Given the description of an element on the screen output the (x, y) to click on. 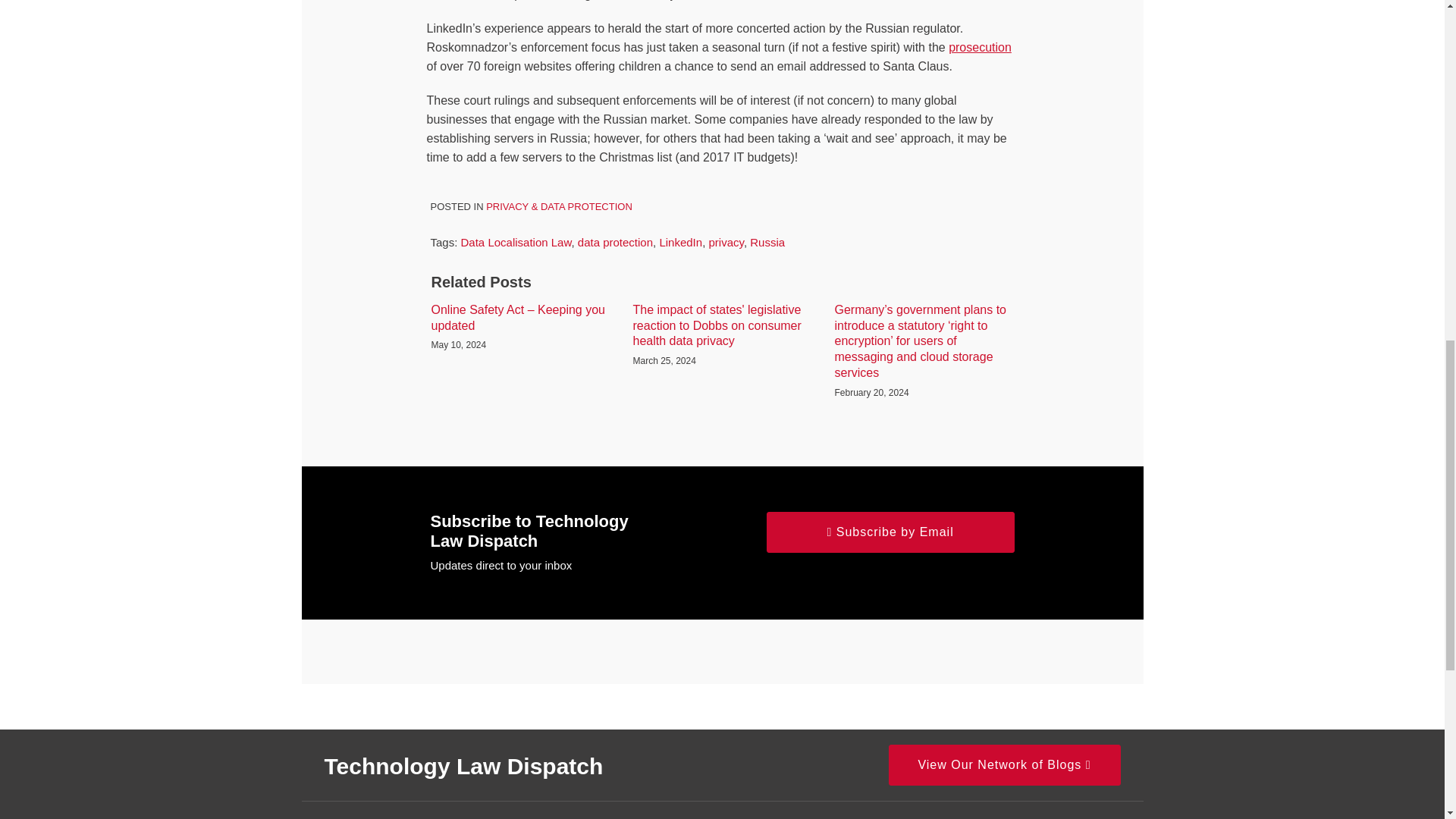
Data Localisation Law (516, 241)
Technology Law Dispatch (464, 765)
LinkedIn (680, 241)
Russia (766, 241)
privacy (724, 241)
data protection (615, 241)
prosecution (980, 47)
Subscribe by Email (890, 531)
View Our Network of Blogs (1004, 764)
